Given the description of an element on the screen output the (x, y) to click on. 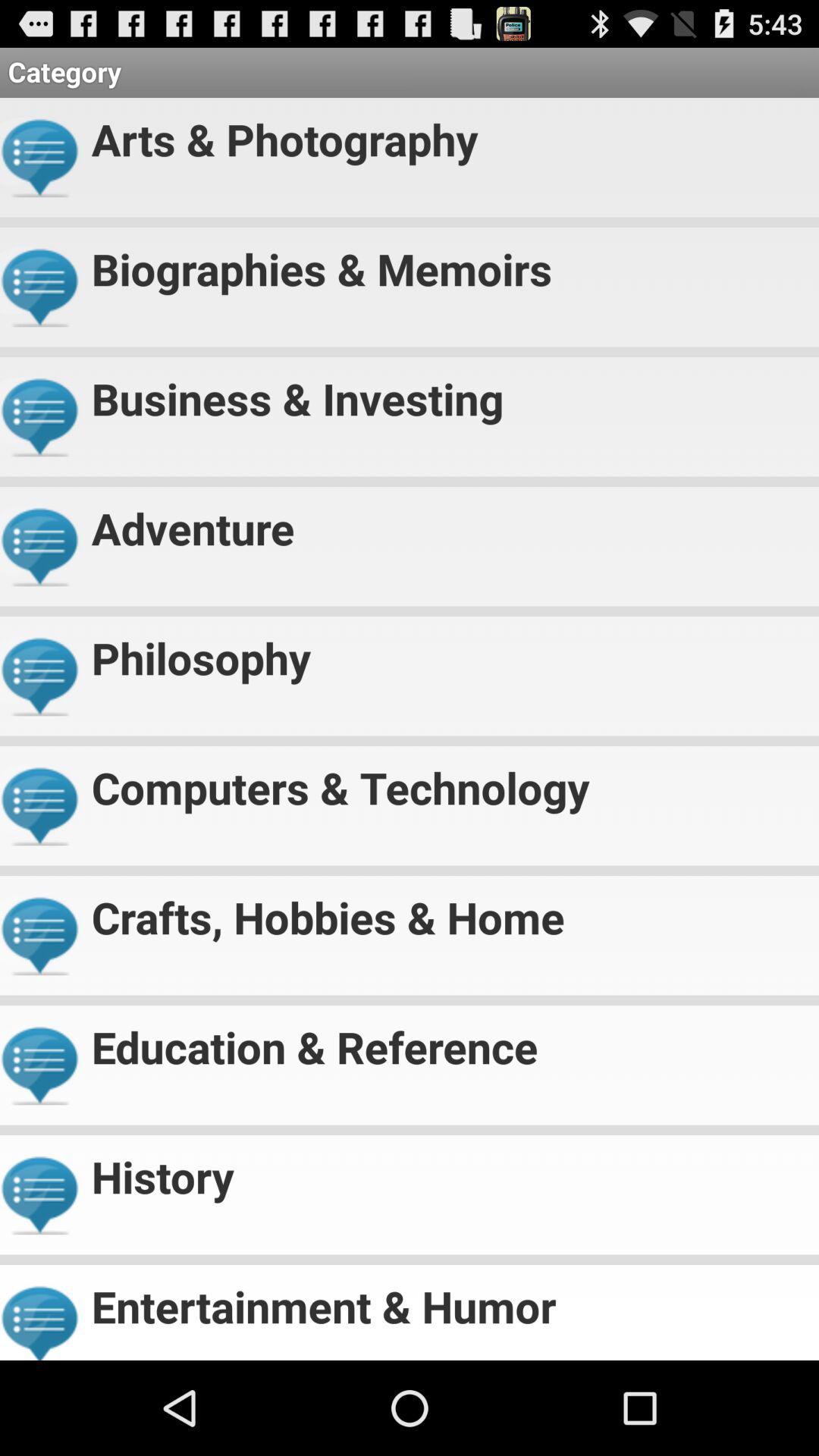
jump to the business & investing item (449, 392)
